Given the description of an element on the screen output the (x, y) to click on. 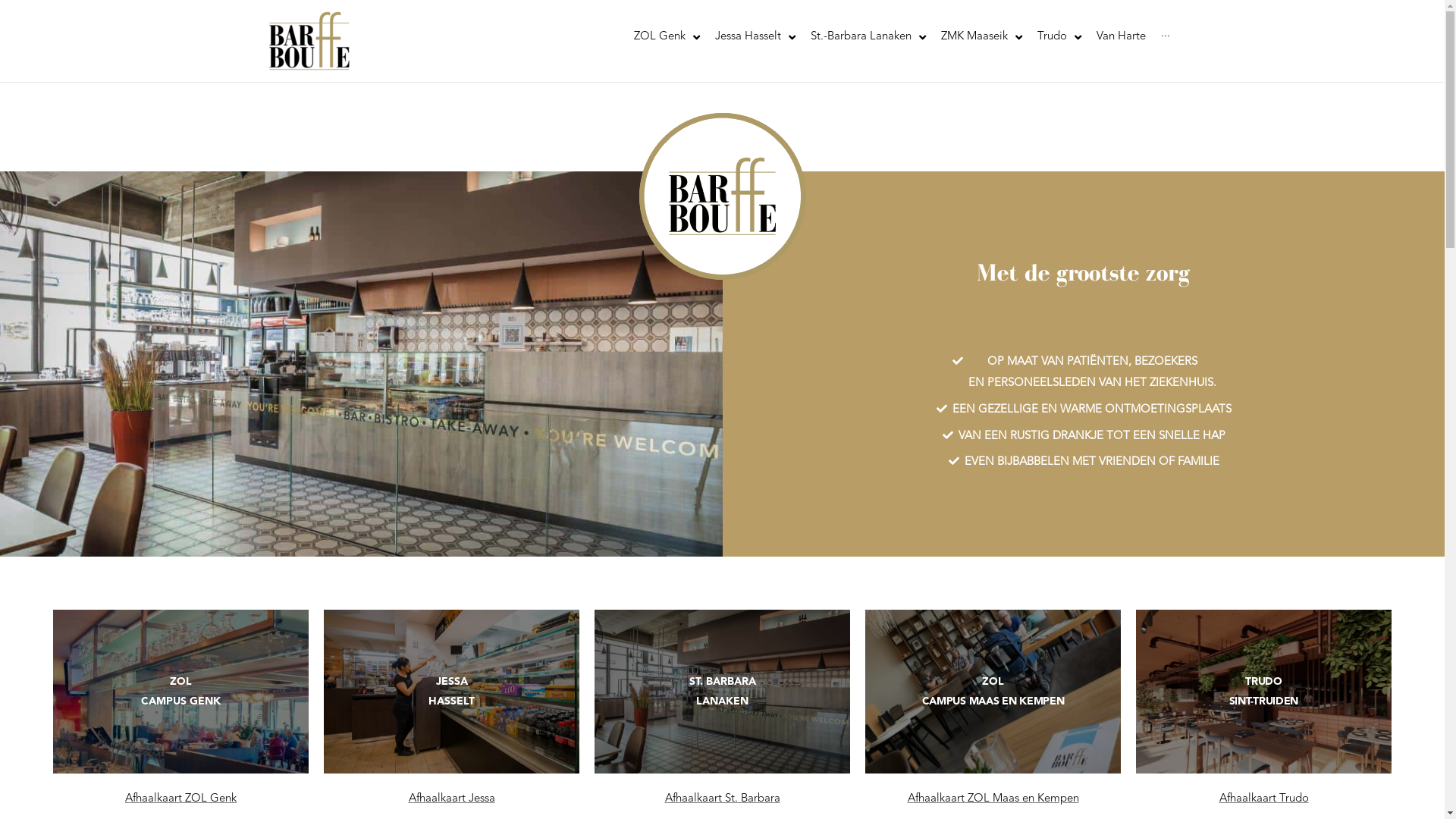
Afhaalkaart Trudo Element type: text (1263, 798)
Trudo Element type: text (1058, 36)
ZOL
CAMPUS GENK Element type: text (180, 691)
Afhaalkaart Jessa Element type: text (450, 798)
ZOL
CAMPUS MAAS EN KEMPEN Element type: text (992, 691)
TRUDO
SINT-TRUIDEN Element type: text (1263, 691)
Jessa Hasselt Element type: text (754, 36)
ZOL Genk Element type: text (666, 36)
St.-Barbara Lanaken Element type: text (867, 36)
ST. BARBARA
LANAKEN Element type: text (722, 691)
Afhaalkaart St. Barbara Element type: text (721, 798)
Van Harte Element type: text (1120, 36)
Barbouffelogo Element type: hover (721, 195)
Afhaalkaart ZOL Maas en Kempen Element type: text (992, 798)
Afhaalkaart ZOL Genk Element type: text (180, 798)
ZMK Maaseik Element type: text (980, 36)
JESSA
HASSELT Element type: text (451, 691)
